Given the description of an element on the screen output the (x, y) to click on. 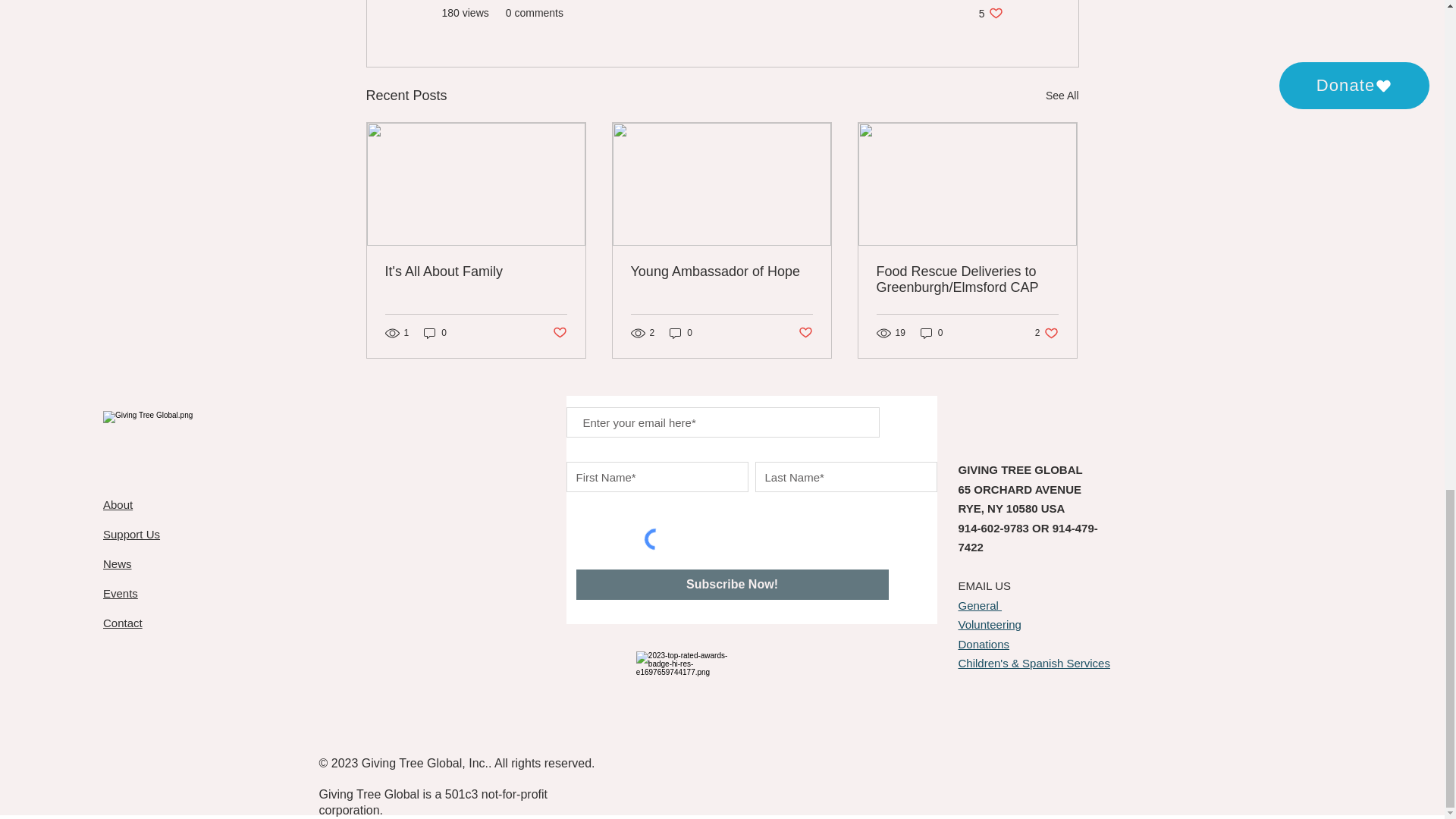
0 (681, 332)
See All (1046, 332)
It's All About Family (1061, 96)
Young Ambassador of Hope (476, 271)
Post not marked as liked (721, 271)
0 (558, 333)
0 (931, 332)
Post not marked as liked (435, 332)
